Given the description of an element on the screen output the (x, y) to click on. 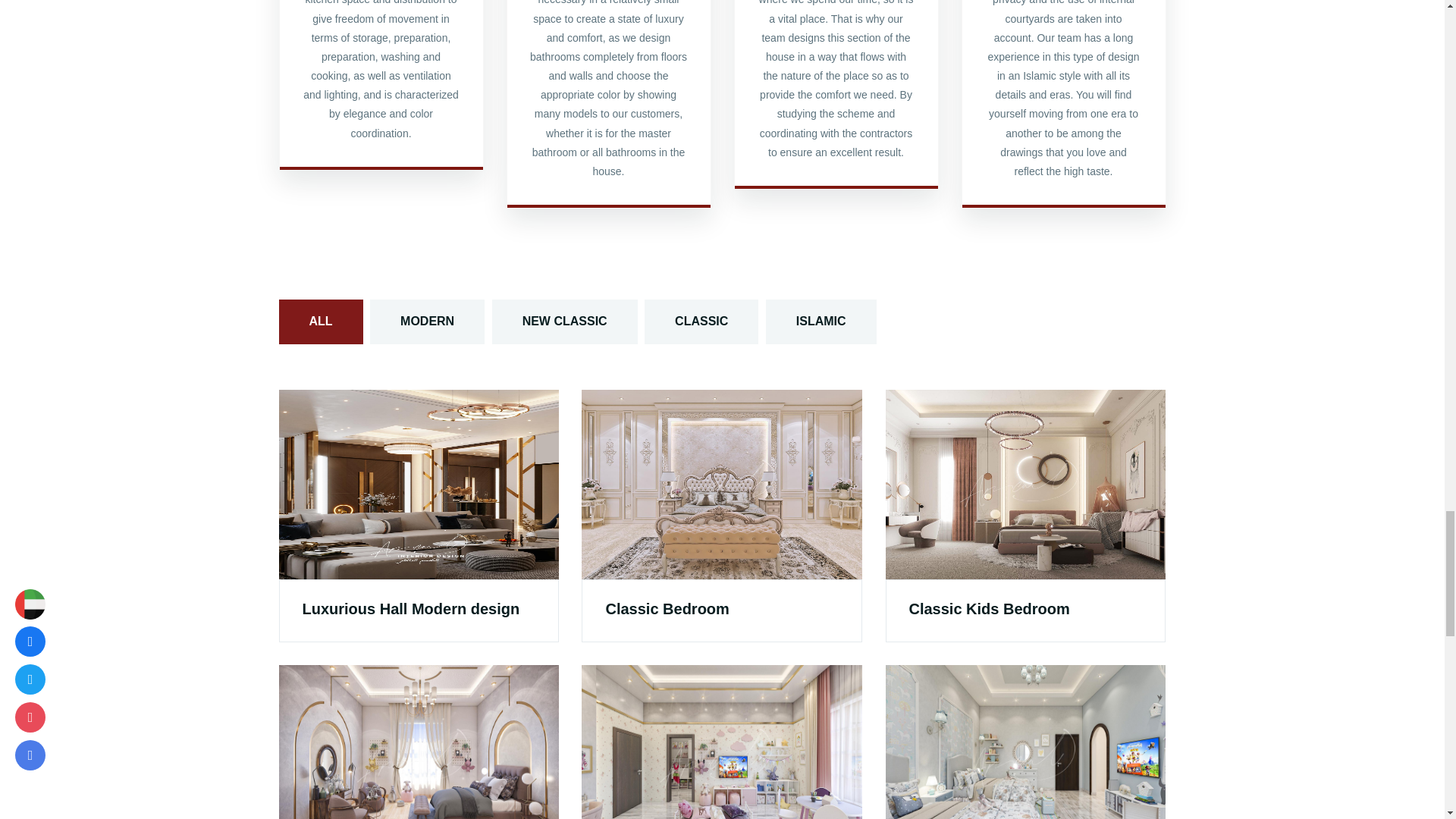
ISLAMIC (820, 321)
ALL (320, 321)
CLASSIC (701, 321)
MODERN (426, 321)
NEW CLASSIC (564, 321)
Luxurious Hall Modern design (410, 608)
